Given the description of an element on the screen output the (x, y) to click on. 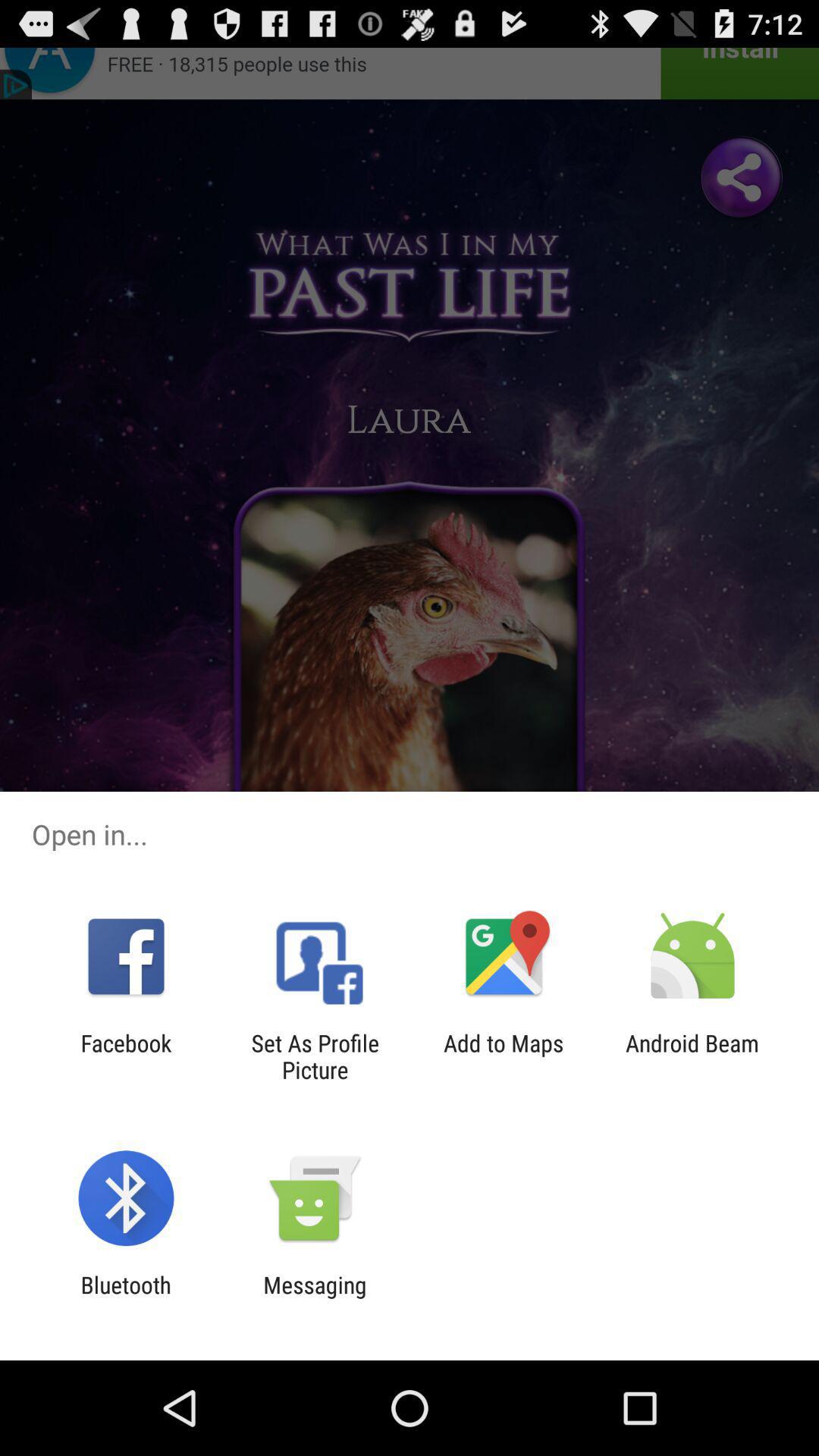
select the add to maps (503, 1056)
